Given the description of an element on the screen output the (x, y) to click on. 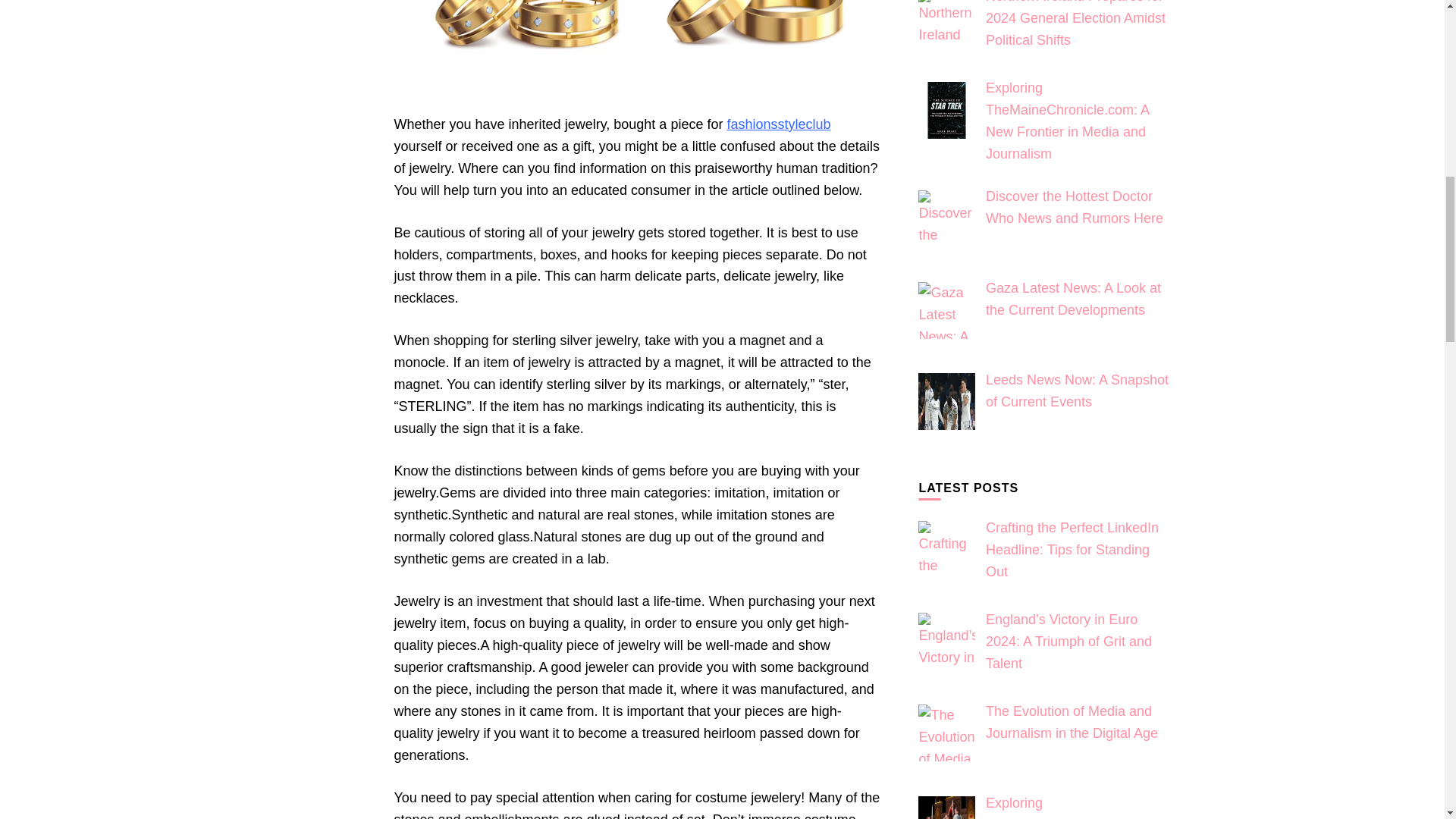
Discover the Hottest Doctor Who News and Rumors Here (946, 218)
For Honest To Goodness Jewelry Advice, This Article Is It (637, 49)
Gaza Latest News: A Look at the Current Developments (946, 310)
The Evolution of Media and Journalism in the Digital Age (946, 732)
Leeds News Now: A Snapshot of Current Events (946, 401)
